Given the description of an element on the screen output the (x, y) to click on. 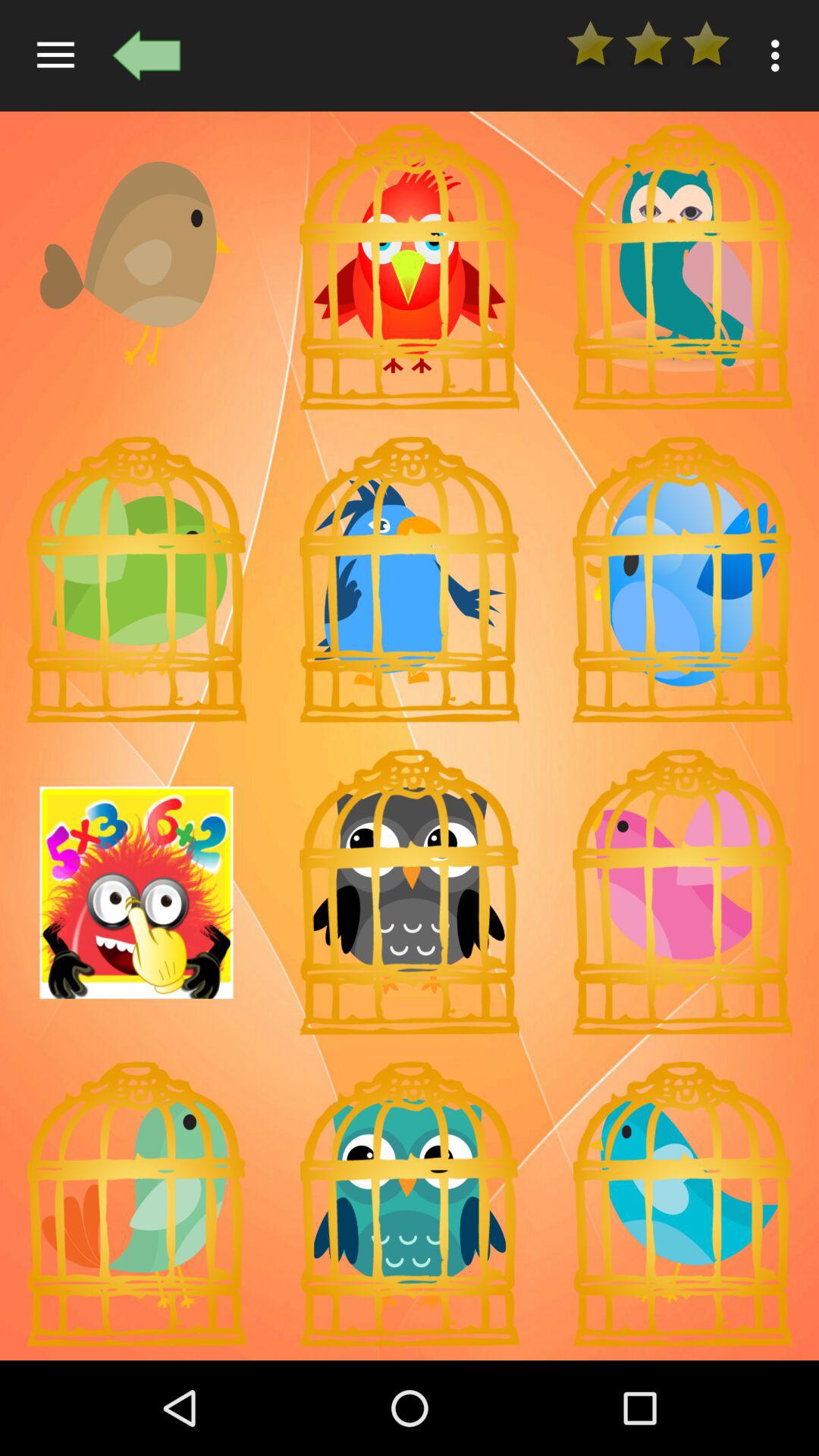
click to select bird (682, 267)
